Given the description of an element on the screen output the (x, y) to click on. 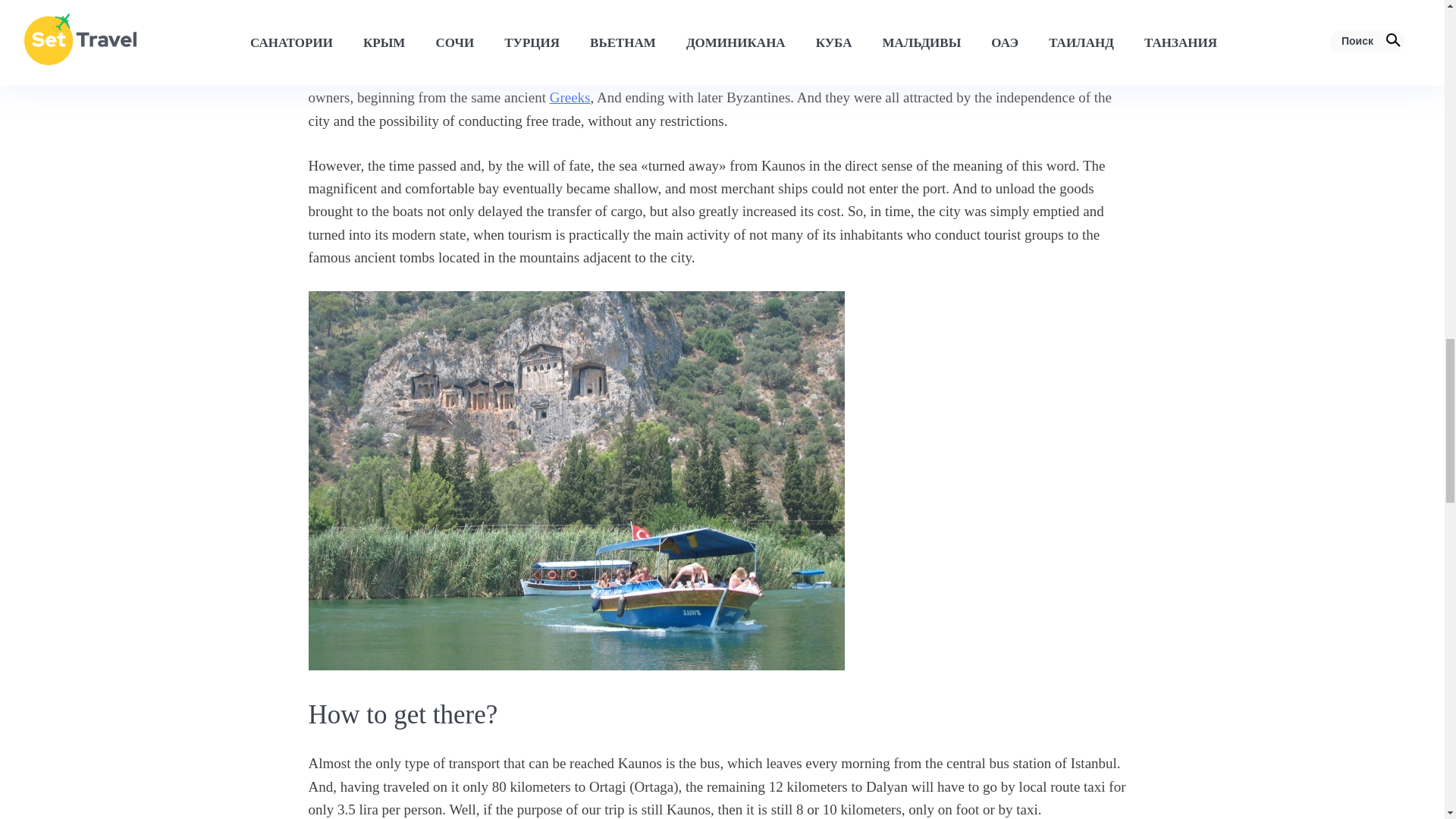
Greeks (570, 97)
